Given the description of an element on the screen output the (x, y) to click on. 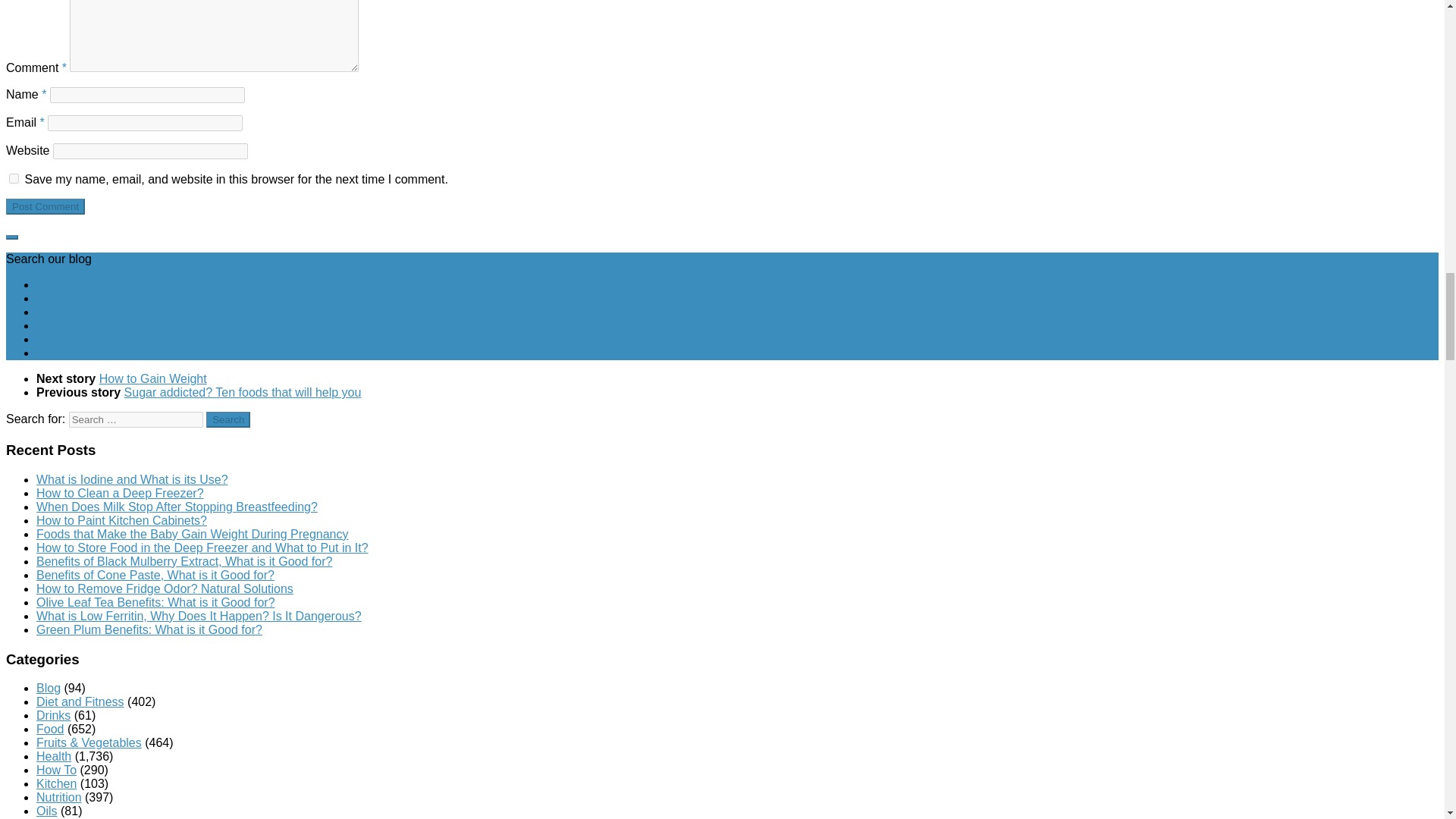
Post Comment (44, 206)
Expand Sidebar (11, 237)
Search (228, 419)
yes (13, 178)
Search (228, 419)
